Given the description of an element on the screen output the (x, y) to click on. 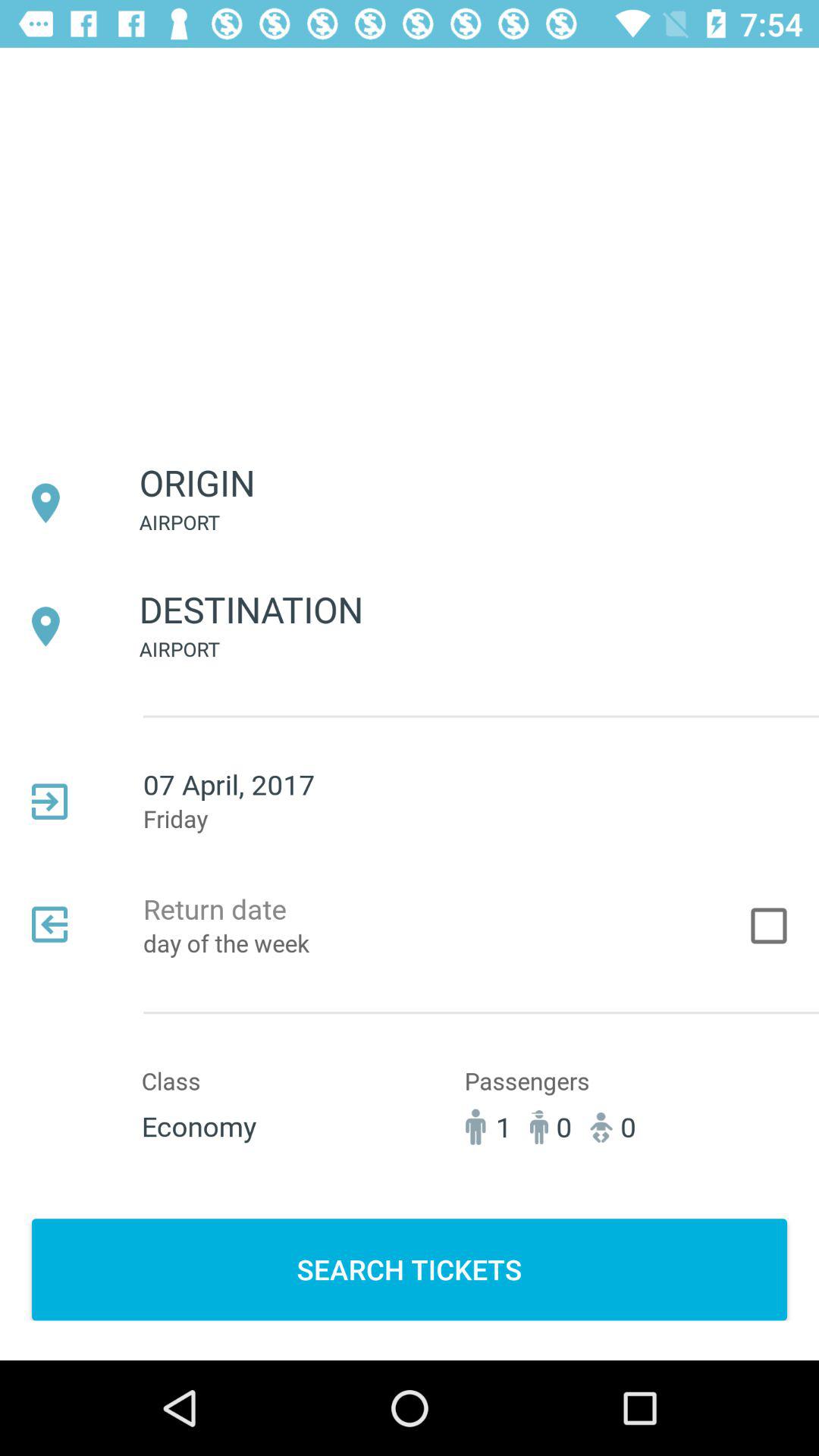
jump to search tickets button (409, 1269)
